Given the description of an element on the screen output the (x, y) to click on. 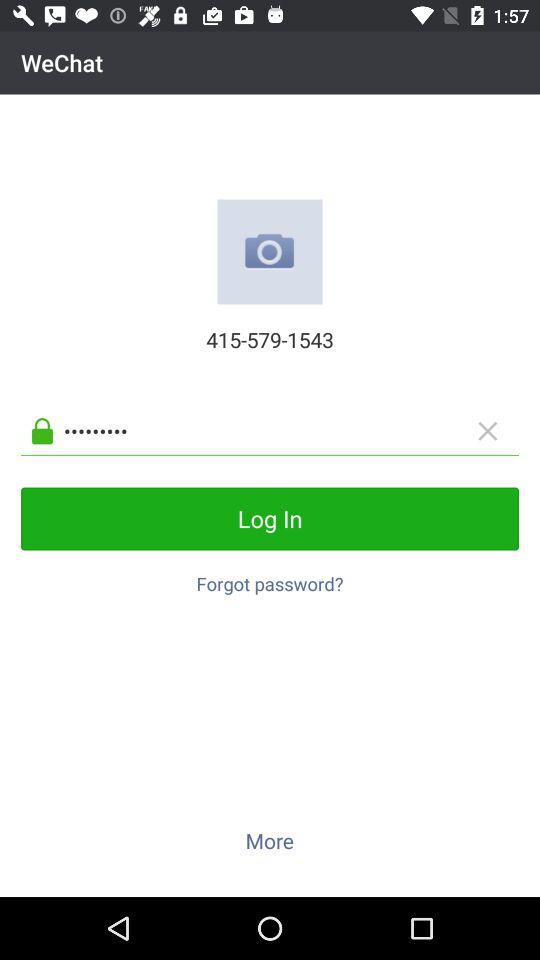
turn on the icon below the crowd3116 icon (270, 518)
